Given the description of an element on the screen output the (x, y) to click on. 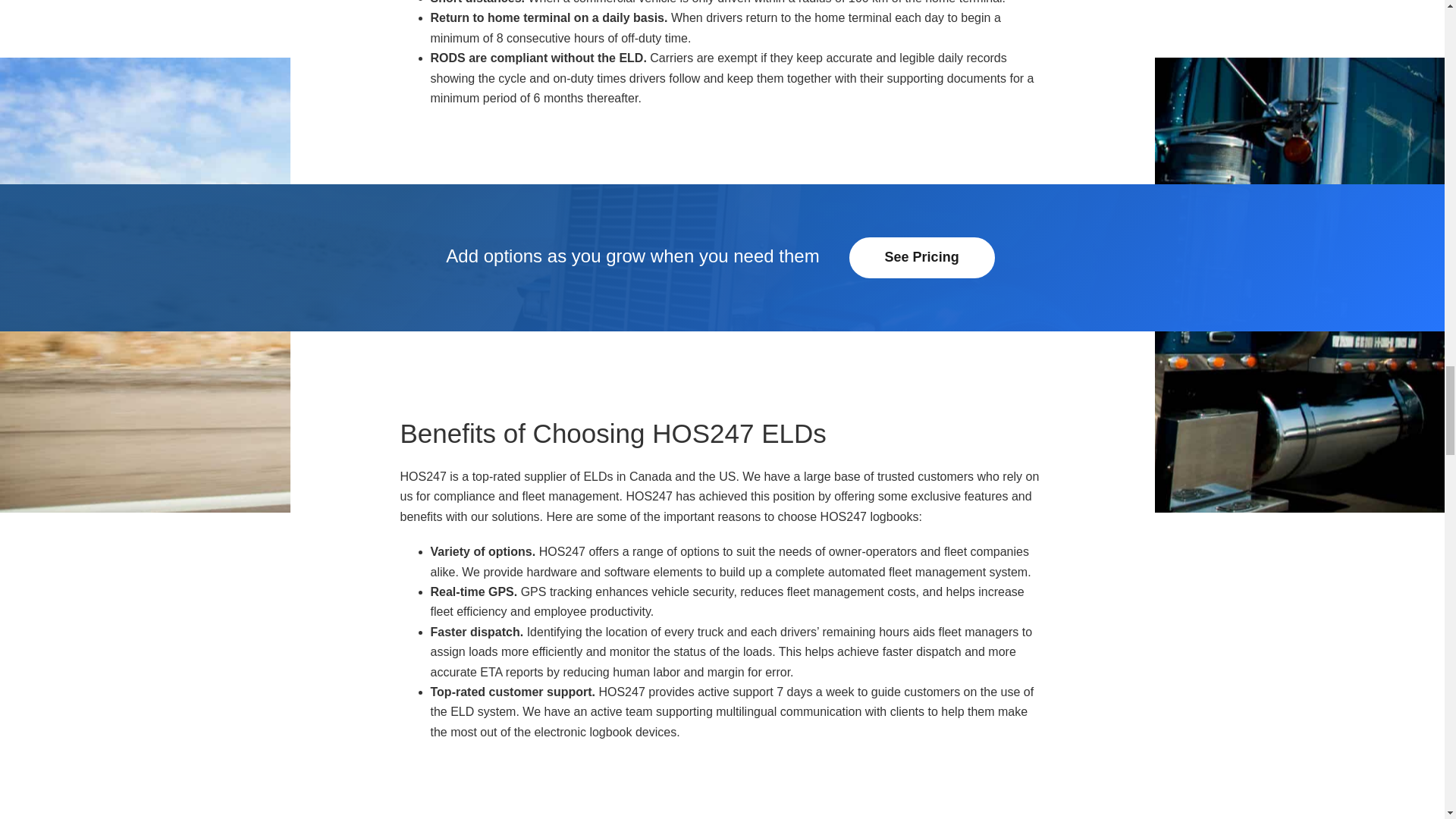
See Pricing (921, 257)
